Given the description of an element on the screen output the (x, y) to click on. 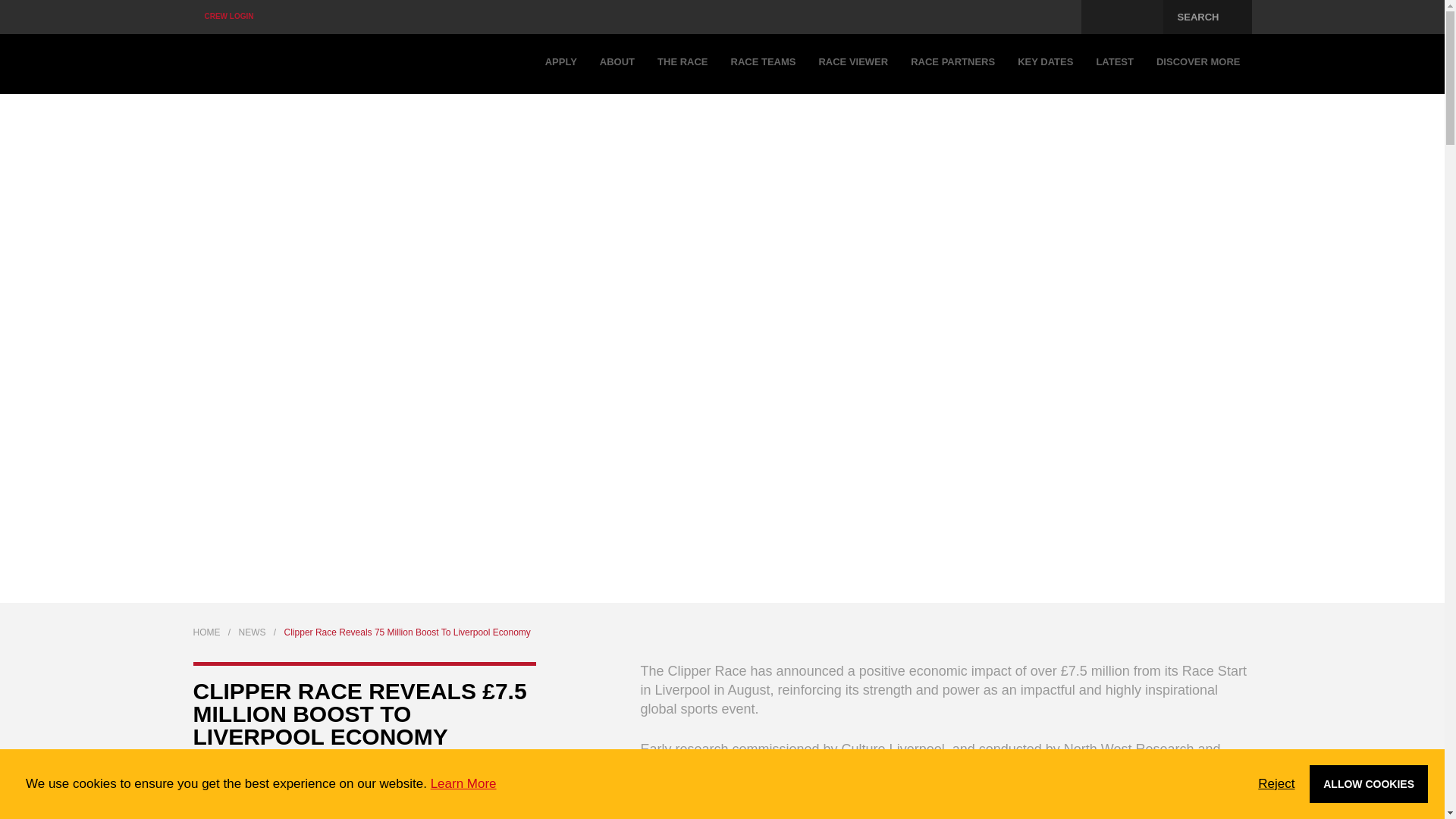
THE RACE (682, 64)
Chinese (1061, 17)
Clipper Round The World (275, 64)
Chinese (1061, 17)
ABOUT (617, 64)
APPLY (561, 64)
Chinese (1061, 17)
Unicef (1122, 17)
CREW LOGIN (228, 17)
Submit (723, 101)
